Given the description of an element on the screen output the (x, y) to click on. 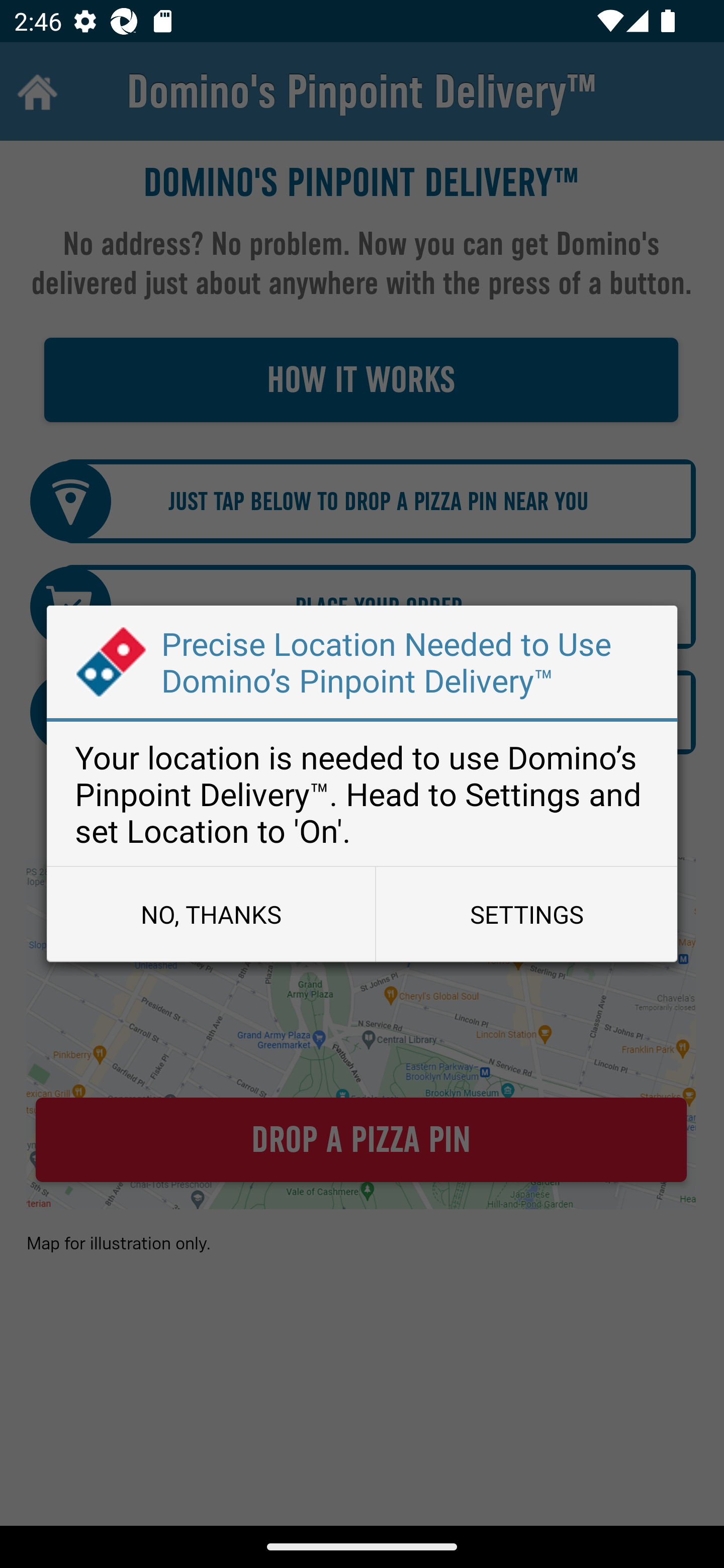
NO, THANKS (211, 914)
SETTINGS (525, 914)
